Given the description of an element on the screen output the (x, y) to click on. 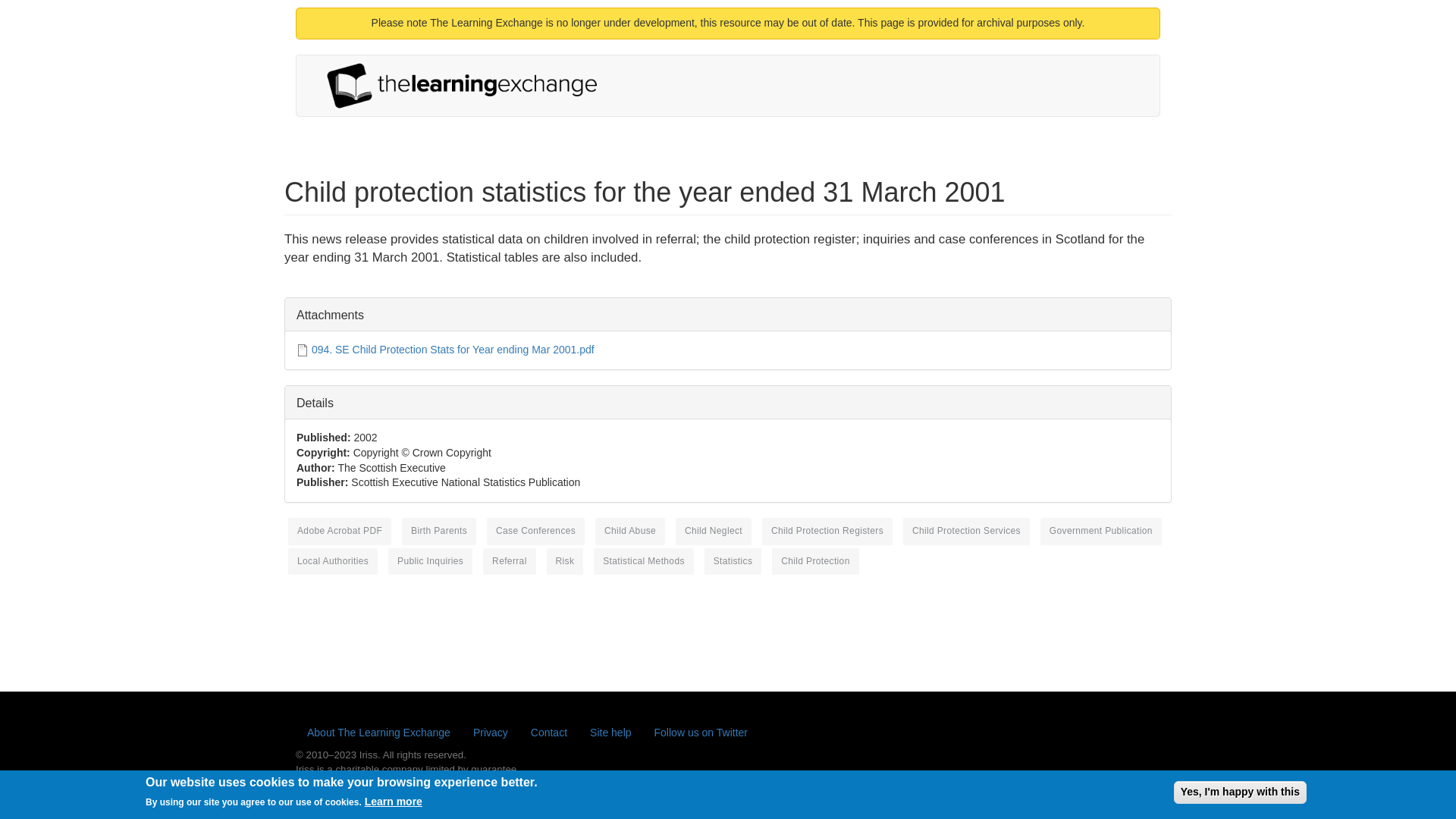
Risk (565, 560)
About The Learning Exchange (378, 733)
094. SE Child Protection Stats for Year ending Mar 2001.pdf (452, 349)
Contact (548, 733)
Follow us on Twitter (700, 733)
Referral (509, 560)
Government Publication (1101, 530)
Privacy (490, 733)
Child Neglect (713, 530)
Statistical Methods (644, 560)
Birth Parents (438, 530)
Case Conferences (535, 530)
Site help (610, 733)
Child Protection (815, 560)
Adobe Acrobat PDF (339, 530)
